Given the description of an element on the screen output the (x, y) to click on. 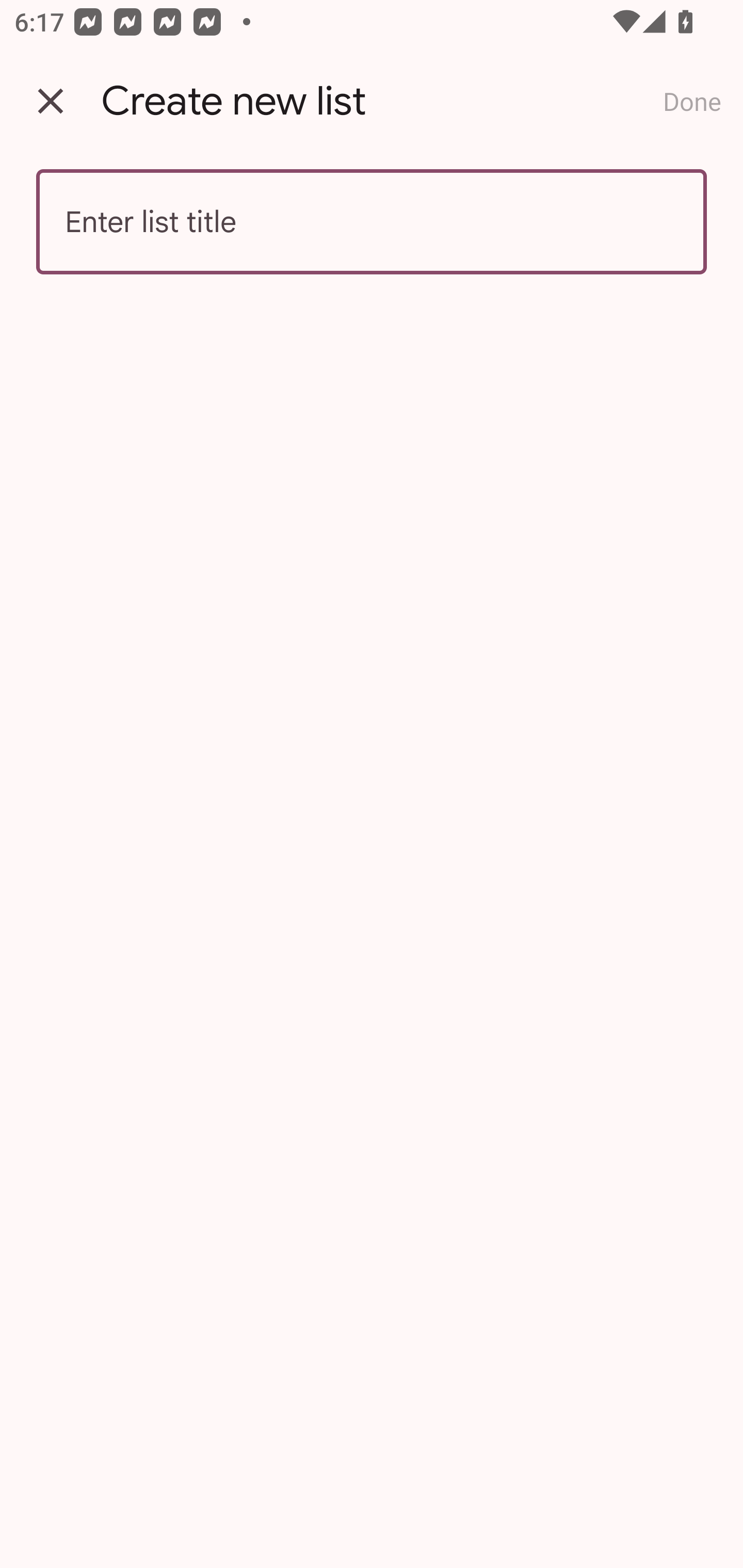
Back (50, 101)
Done (692, 101)
Enter list title (371, 221)
